Given the description of an element on the screen output the (x, y) to click on. 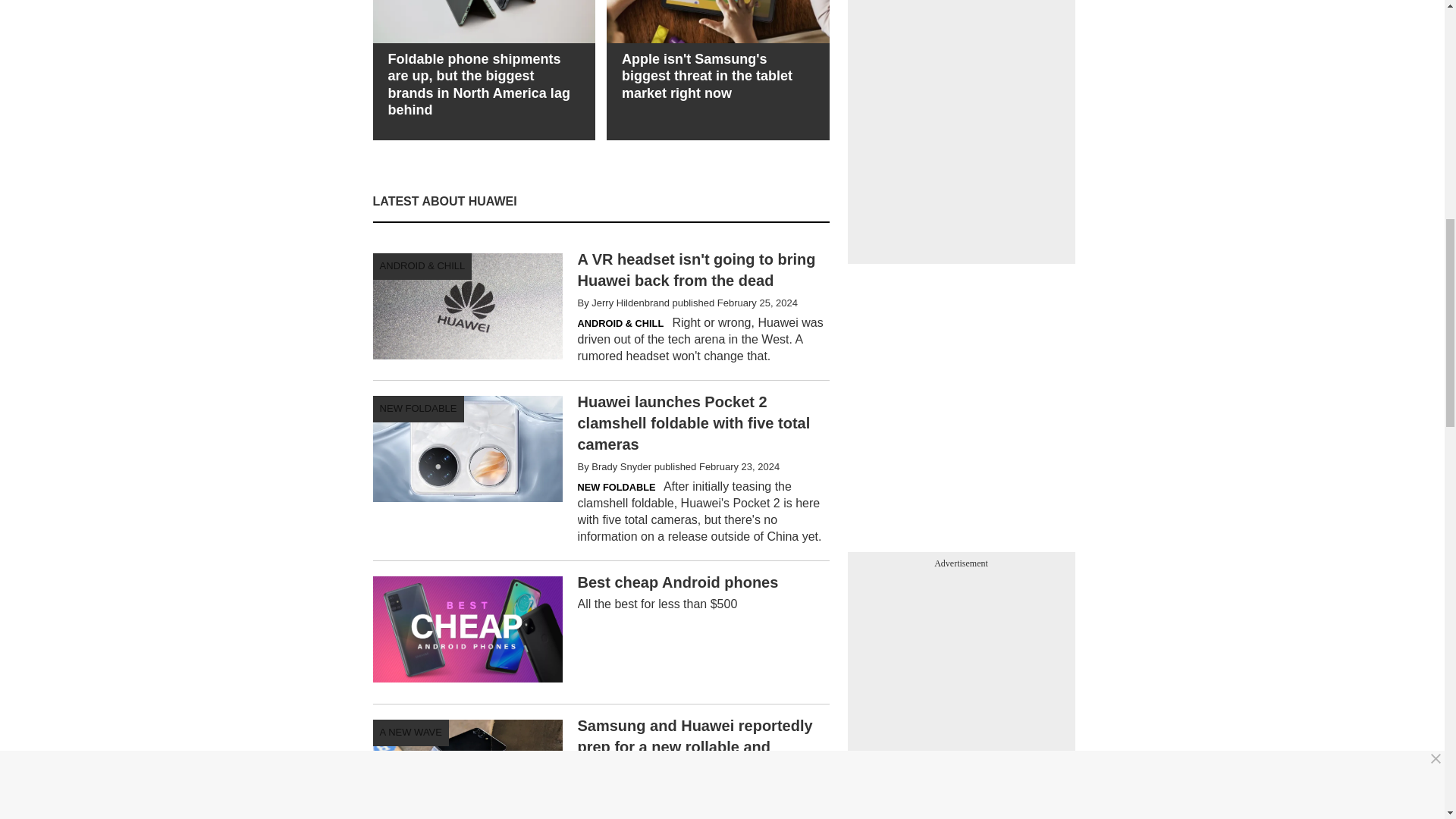
Advertisement (600, 632)
